Given the description of an element on the screen output the (x, y) to click on. 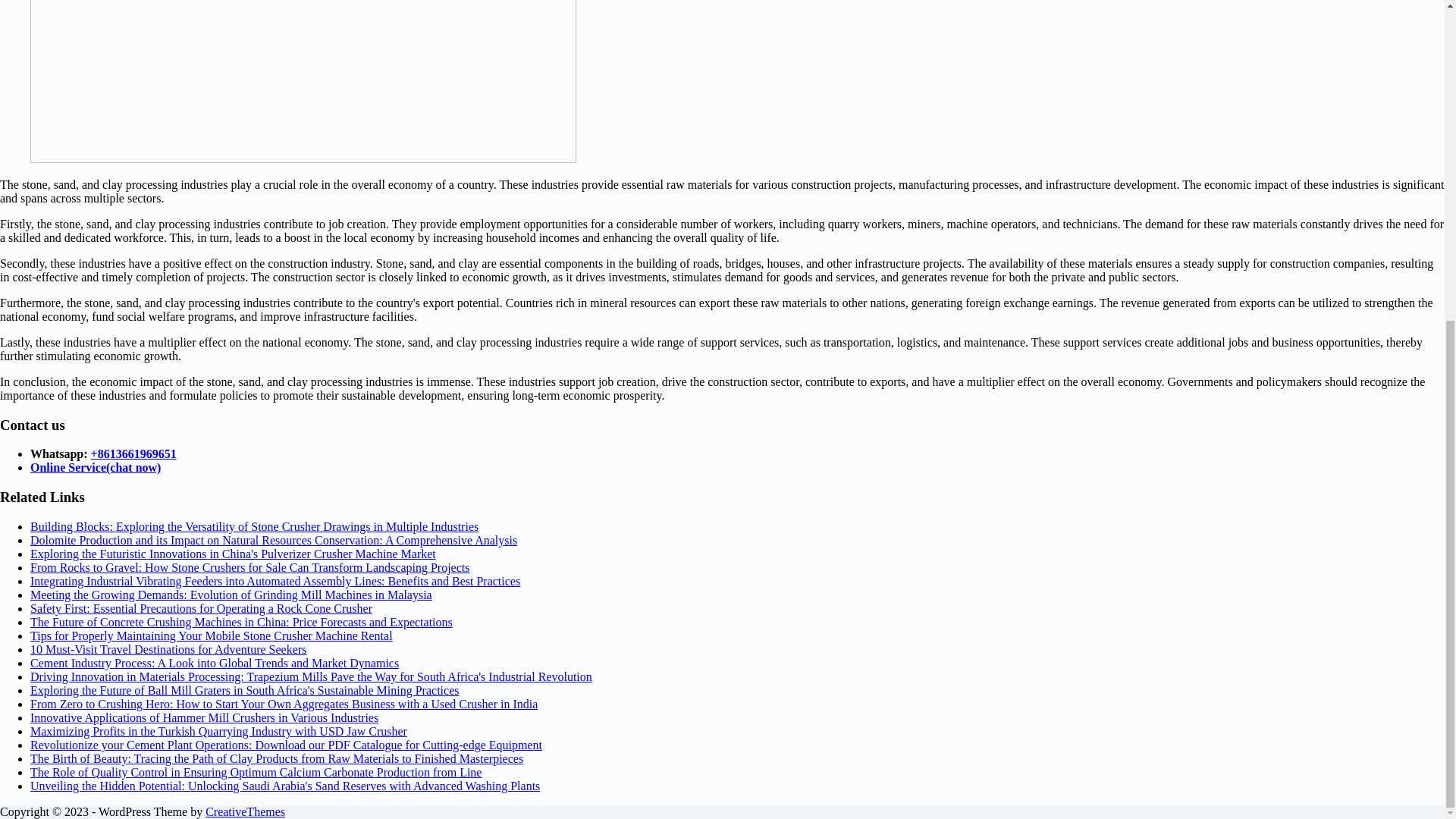
CreativeThemes (245, 811)
10 Must-Visit Travel Destinations for Adventure Seekers (167, 649)
